Given the description of an element on the screen output the (x, y) to click on. 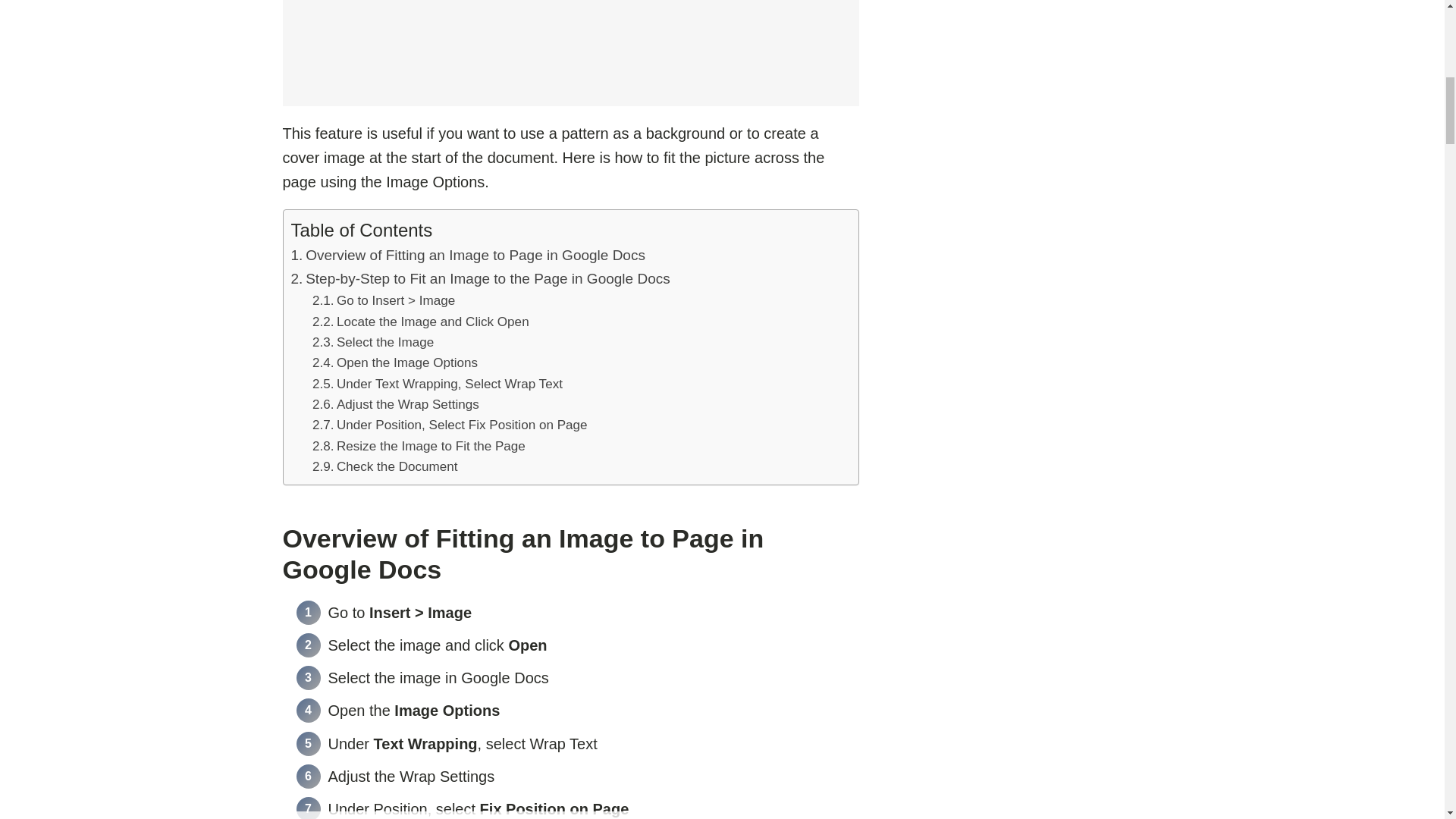
Under Text Wrapping, Select Wrap Text (437, 383)
Adjust the Wrap Settings (396, 403)
Resize the Image to Fit the Page (419, 445)
Select the Image (373, 342)
Adjust the Wrap Settings (396, 403)
Overview of Fitting an Image to Page in Google Docs (468, 255)
Open the Image Options (395, 362)
Step-by-Step to Fit an Image to the Page in Google Docs (480, 278)
Step-by-Step to Fit an Image to the Page in Google Docs (480, 278)
Resize the Image to Fit the Page (419, 445)
Check the Document (385, 466)
Under Position, Select Fix Position on Page (450, 424)
Under Position, Select Fix Position on Page (450, 424)
Select the Image (373, 342)
Overview of Fitting an Image to Page in Google Docs (468, 255)
